Given the description of an element on the screen output the (x, y) to click on. 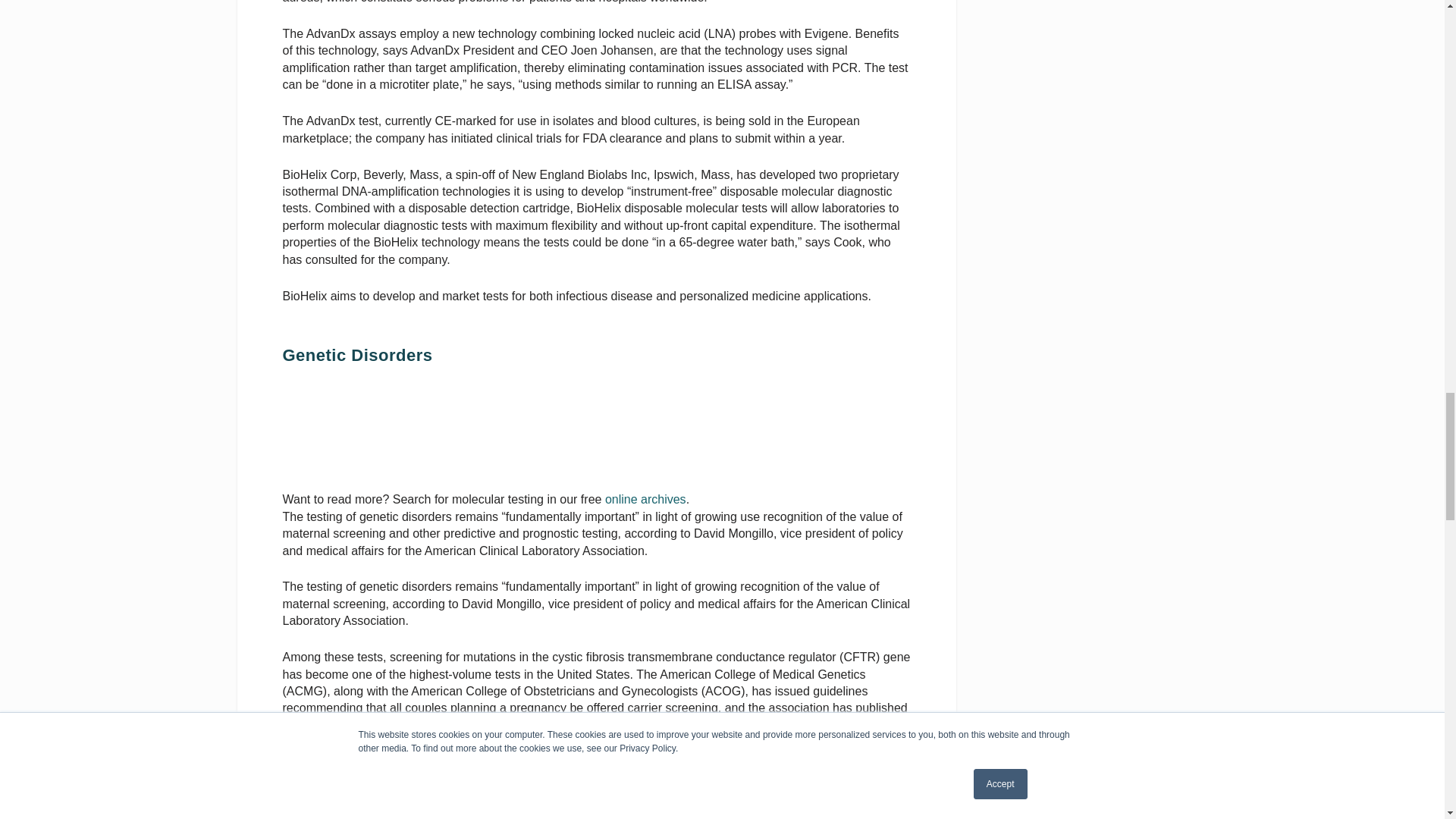
Search for molecular testing in our online archives (395, 429)
